Given the description of an element on the screen output the (x, y) to click on. 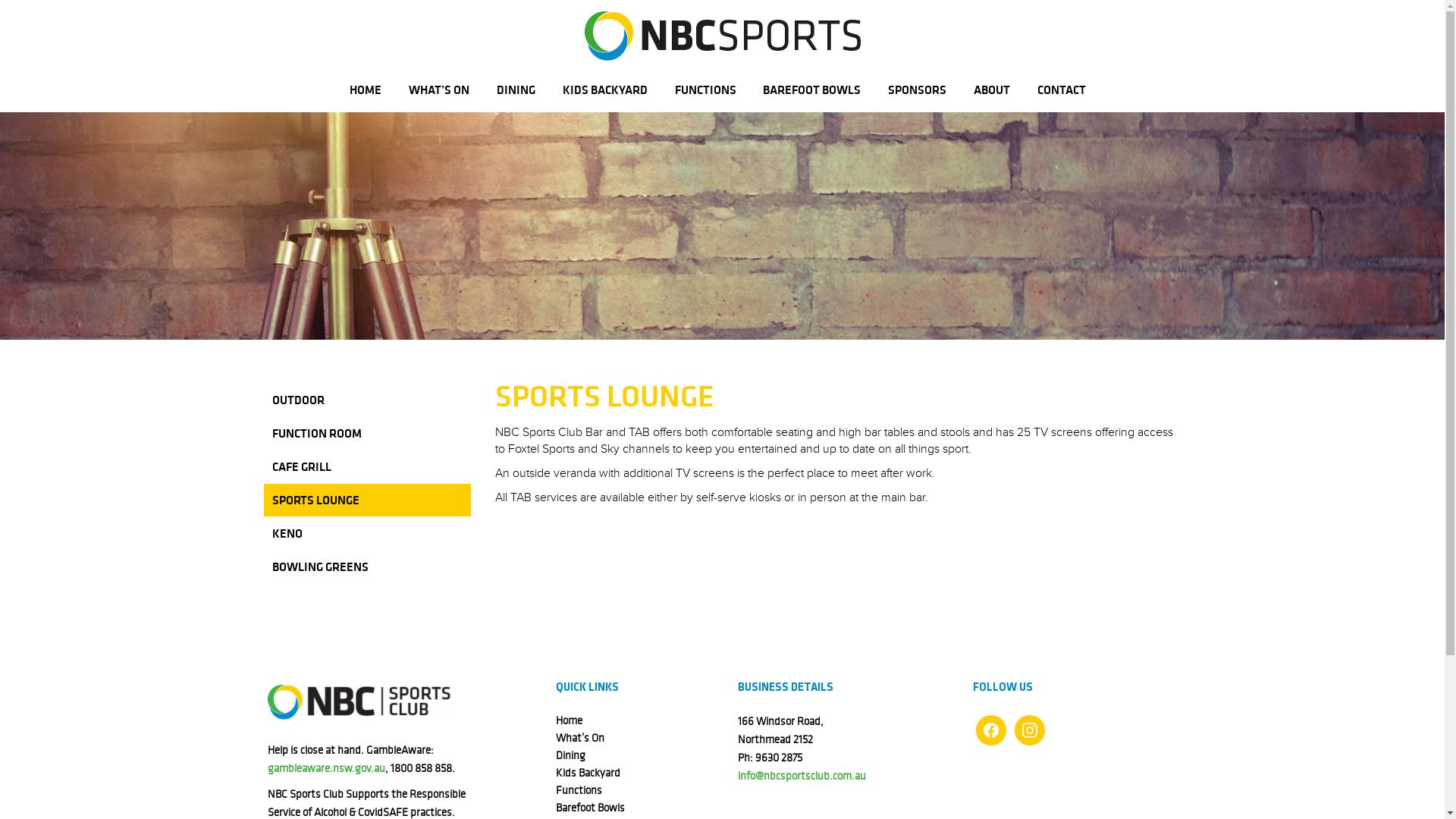
info@nbcsportsclub.com.au Element type: text (801, 775)
SPONSORS Element type: text (916, 89)
BAREFOOT BOWLS Element type: text (811, 89)
Dining Element type: text (575, 755)
SPORTS LOUNGE Element type: text (366, 499)
KIDS BACKYARD Element type: text (604, 89)
ABOUT Element type: text (991, 89)
Functions Element type: text (583, 790)
instagram Element type: text (1029, 728)
HOME Element type: text (365, 89)
BOWLING GREENS Element type: text (366, 566)
CONTACT Element type: text (1061, 89)
KENO Element type: text (366, 533)
DINING Element type: text (515, 89)
FUNCTIONS Element type: text (705, 89)
Home Element type: text (574, 720)
Barefoot Bowls Element type: text (595, 807)
OUTDOOR Element type: text (366, 399)
facebook Element type: text (990, 728)
gambleaware.nsw.gov.au Element type: text (325, 768)
FUNCTION ROOM Element type: text (366, 433)
CAFE GRILL Element type: text (366, 466)
Kids Backyard Element type: text (592, 772)
